Given the description of an element on the screen output the (x, y) to click on. 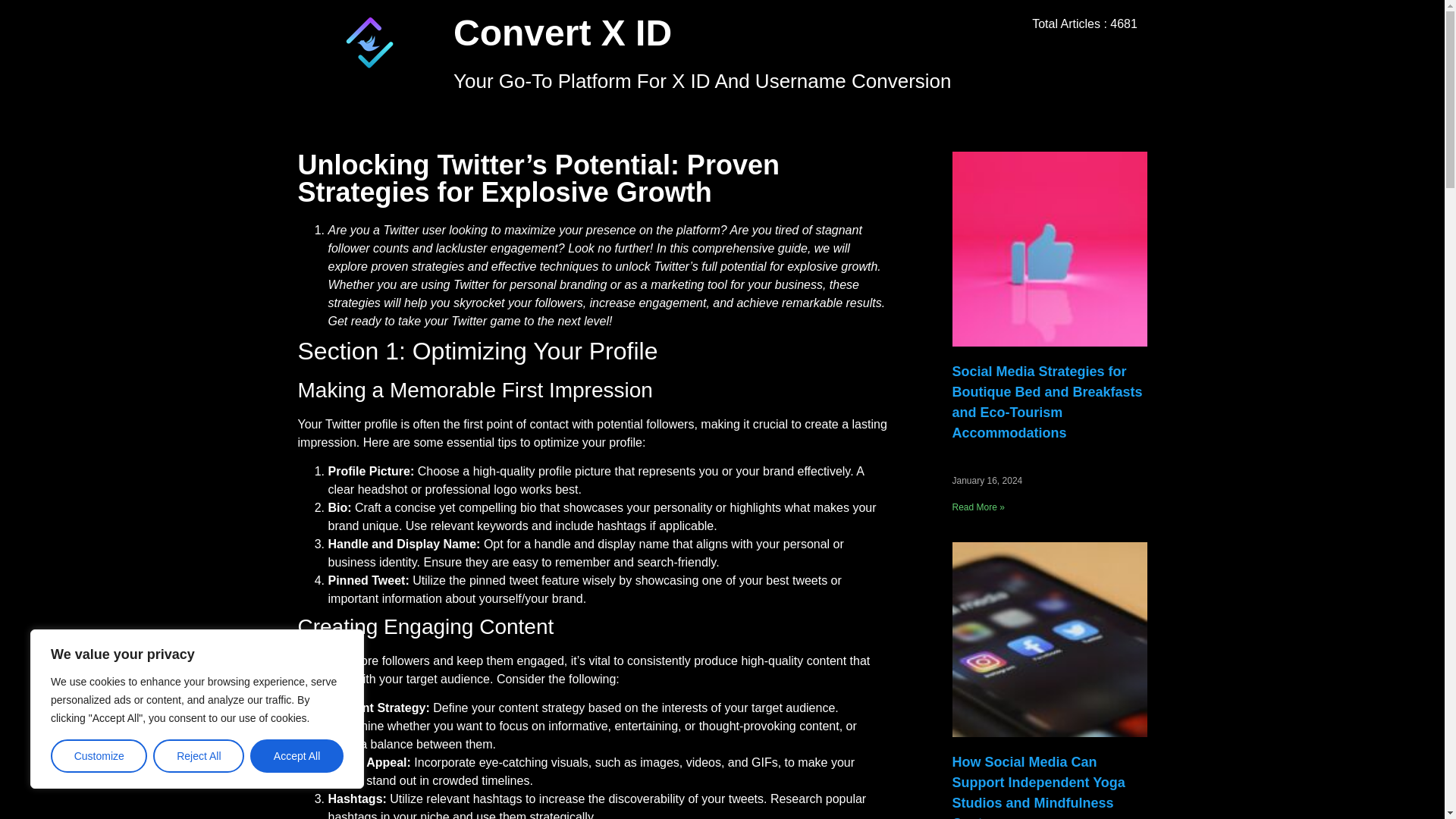
Reject All (198, 756)
Accept All (296, 756)
Customize (98, 756)
